Given the description of an element on the screen output the (x, y) to click on. 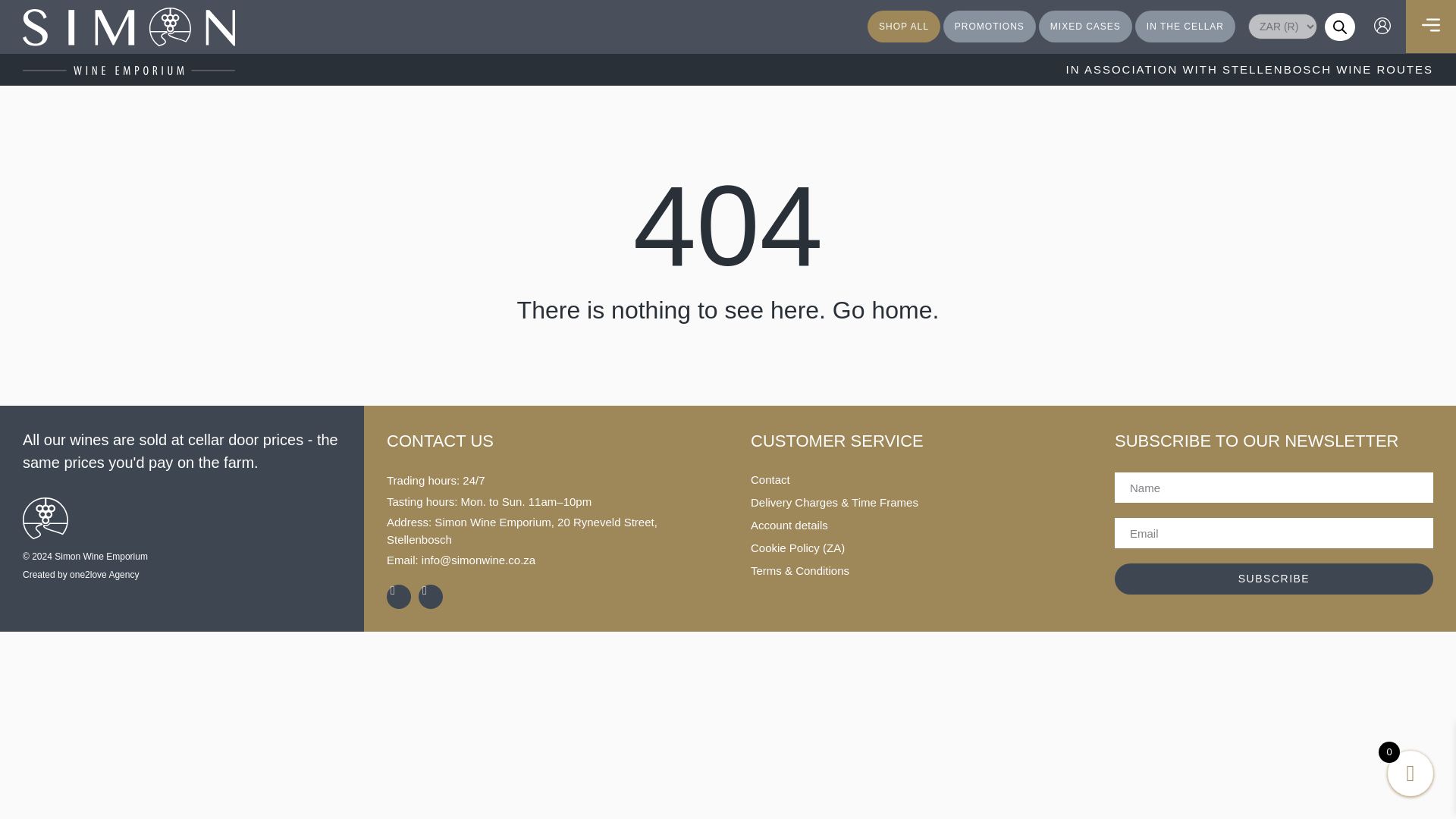
MIXED CASES (1085, 26)
IN THE CELLAR (1184, 26)
PROMOTIONS (989, 26)
SHOP ALL (903, 26)
